Given the description of an element on the screen output the (x, y) to click on. 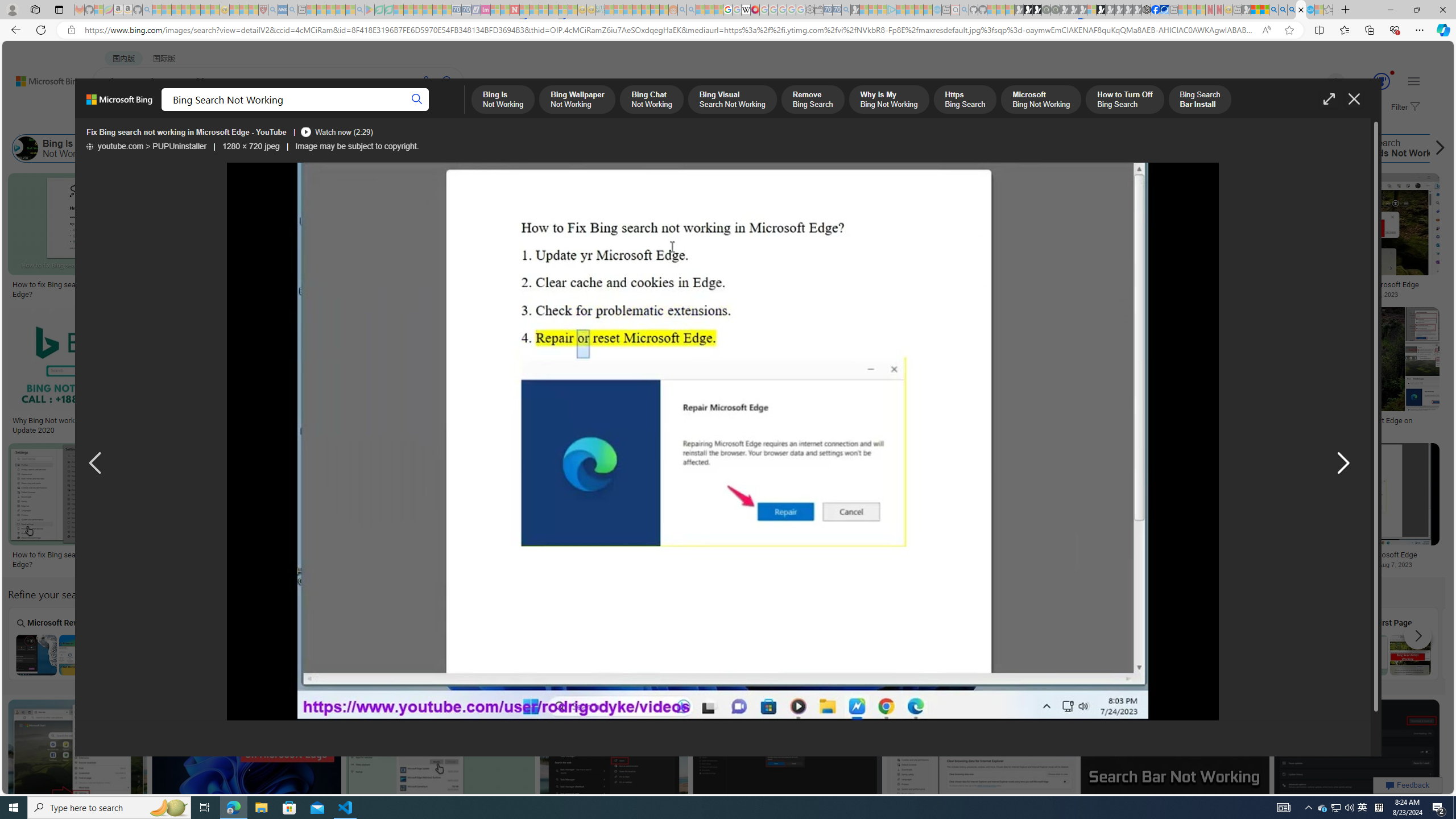
Bing Search Bar Install (996, 148)
Favorites - Sleeping (1328, 9)
Bing Tablet Search Not Working Tablet (364, 643)
How to Get Rid of Bing Search (1210, 148)
Future Focus Report 2024 - Sleeping (1054, 9)
Why First Page of Bing Search Not Working (1387, 655)
Bing Search Not Working - Search Images (1300, 9)
How to Get Rid of Bing Search (1256, 148)
